Given the description of an element on the screen output the (x, y) to click on. 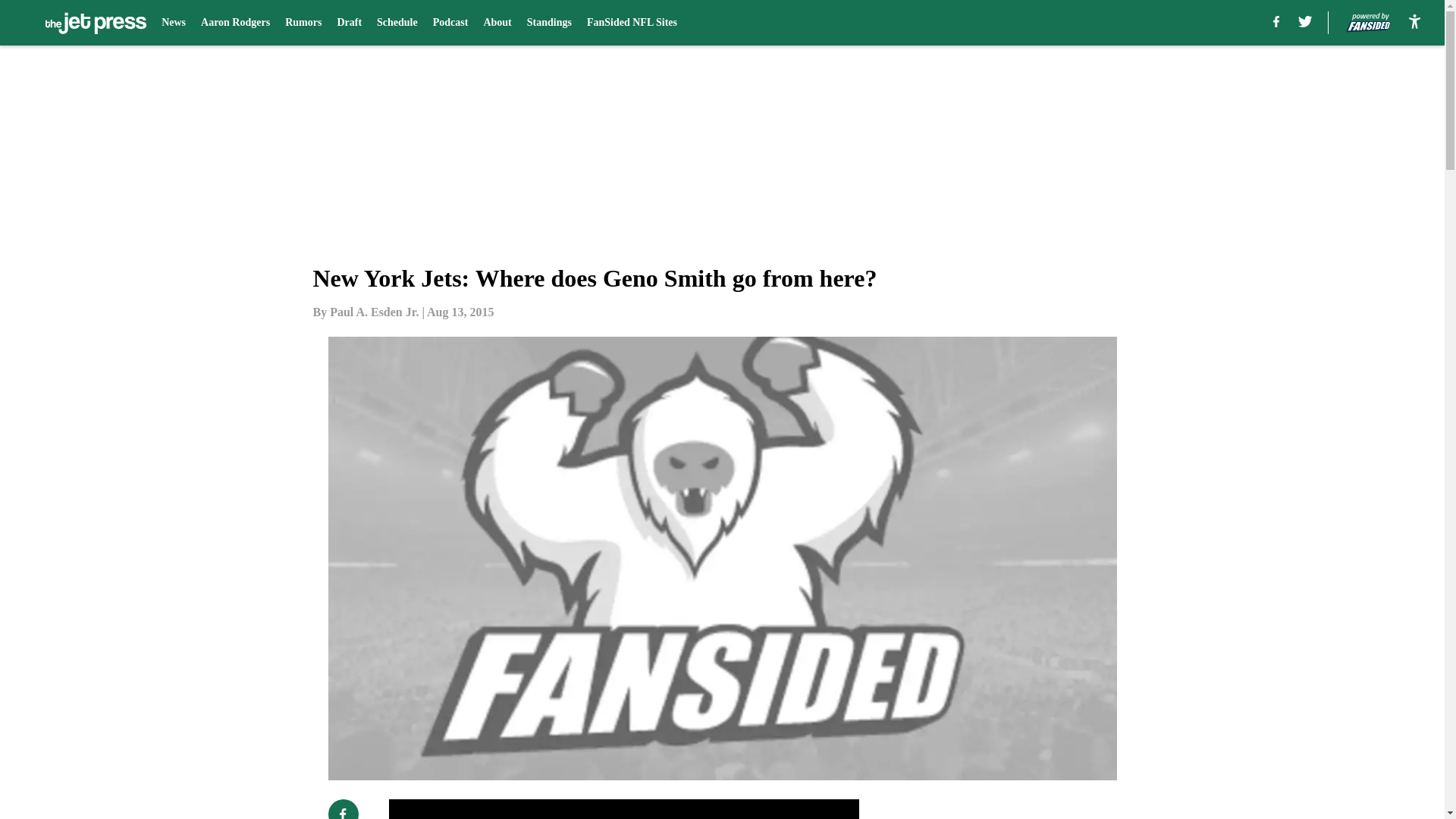
Rumors (303, 22)
FanSided NFL Sites (631, 22)
Aaron Rodgers (234, 22)
Schedule (397, 22)
News (173, 22)
Draft (348, 22)
About (497, 22)
Podcast (450, 22)
Standings (549, 22)
